Given the description of an element on the screen output the (x, y) to click on. 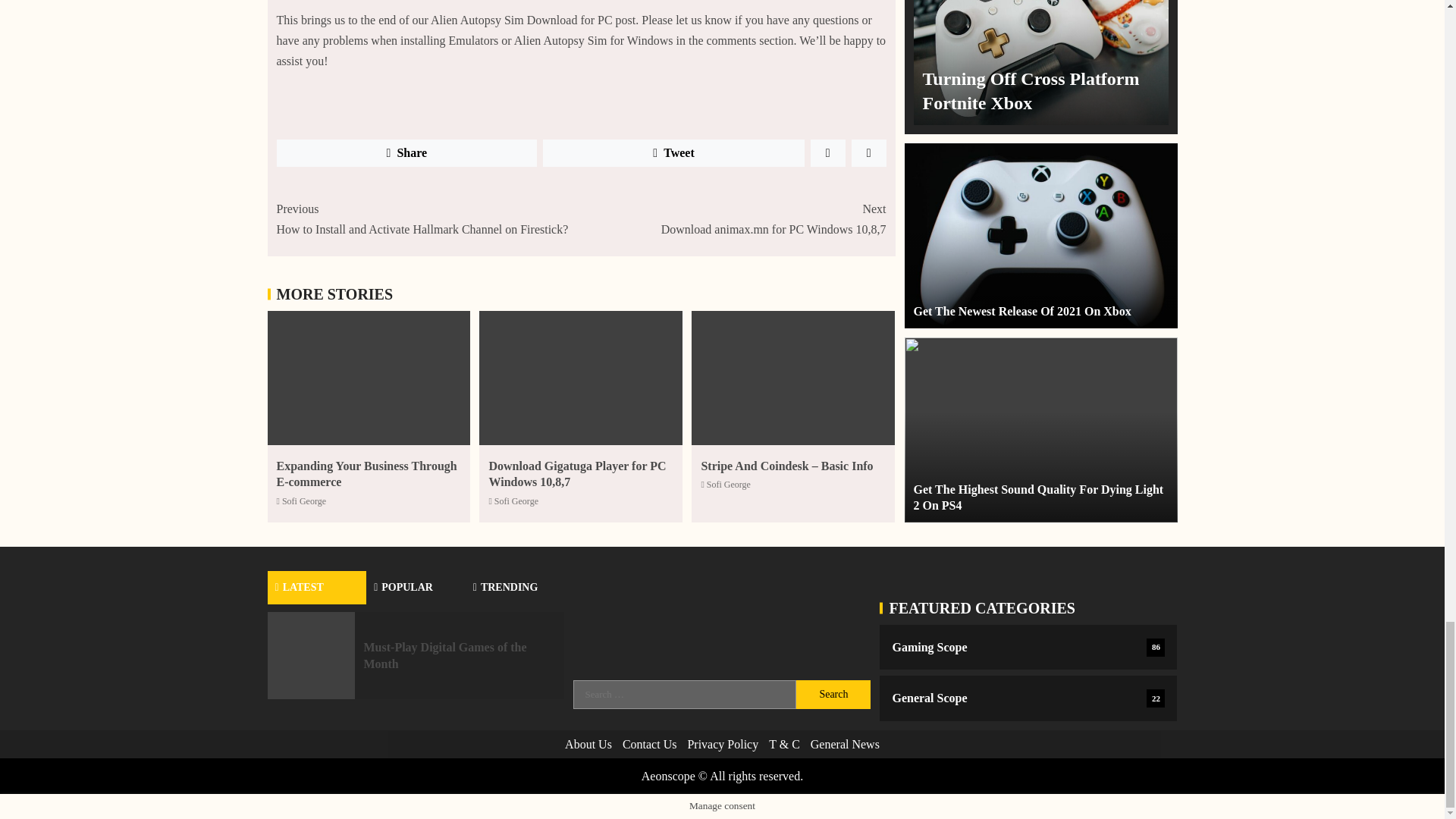
Search (833, 694)
Expanding Your Business Through E-commerce (366, 473)
Share (406, 153)
Tweet (674, 153)
Search (732, 219)
Download Gigatuga Player for PC Windows 10,8,7 (833, 694)
Sofi George (576, 473)
Sofi George (304, 501)
